Given the description of an element on the screen output the (x, y) to click on. 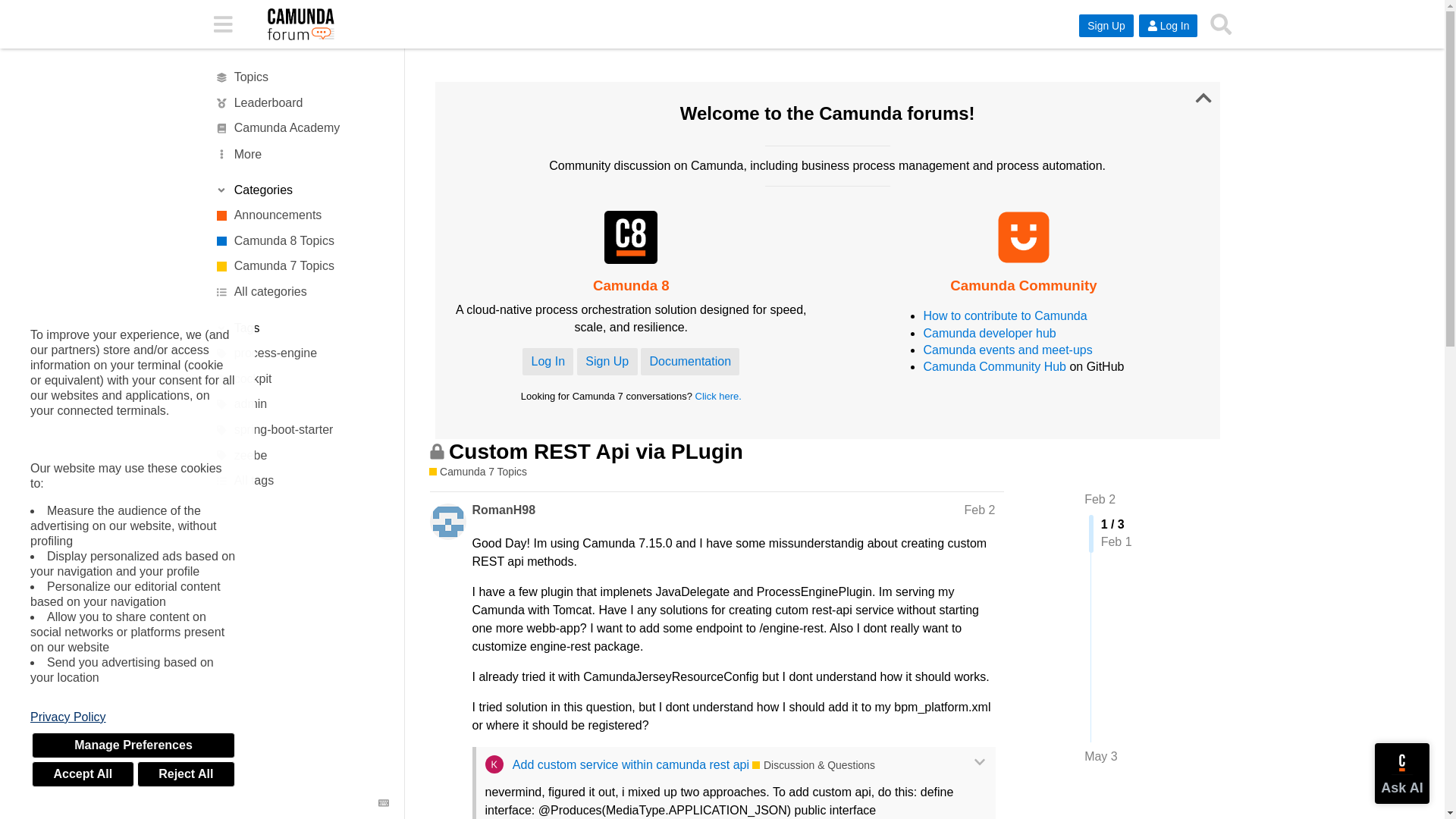
zeebe (301, 455)
Toggle section (301, 328)
Camunda Academy (301, 128)
Documentation (689, 361)
Announcements (301, 216)
Sidebar (222, 23)
Keyboard Shortcuts (384, 802)
Sign Up (1105, 25)
All topics (301, 77)
Search (1220, 23)
Privacy Policy (132, 717)
Tags (301, 328)
Custom REST Api via PLugin (595, 451)
Camunda 7 Topics (301, 266)
This topic is closed; it no longer accepts new replies (437, 451)
